Given the description of an element on the screen output the (x, y) to click on. 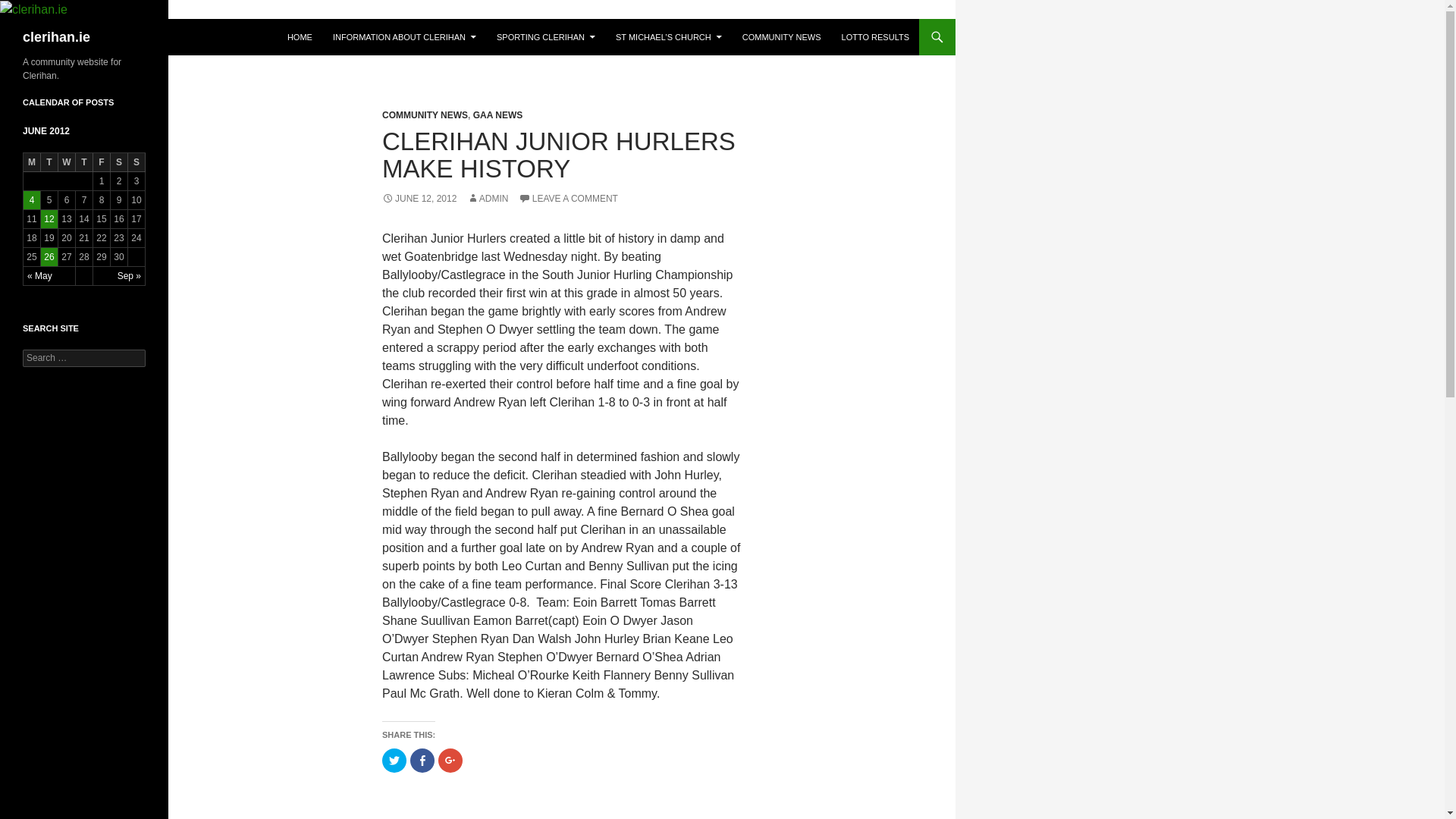
COMMUNITY NEWS (781, 36)
LEAVE A COMMENT (567, 198)
SPORTING CLERIHAN (545, 36)
Monday (31, 162)
Friday (101, 162)
Saturday (119, 162)
Click to share on Facebook (421, 760)
Sunday (136, 162)
Search for: (84, 357)
INFORMATION ABOUT CLERIHAN (403, 36)
